Given the description of an element on the screen output the (x, y) to click on. 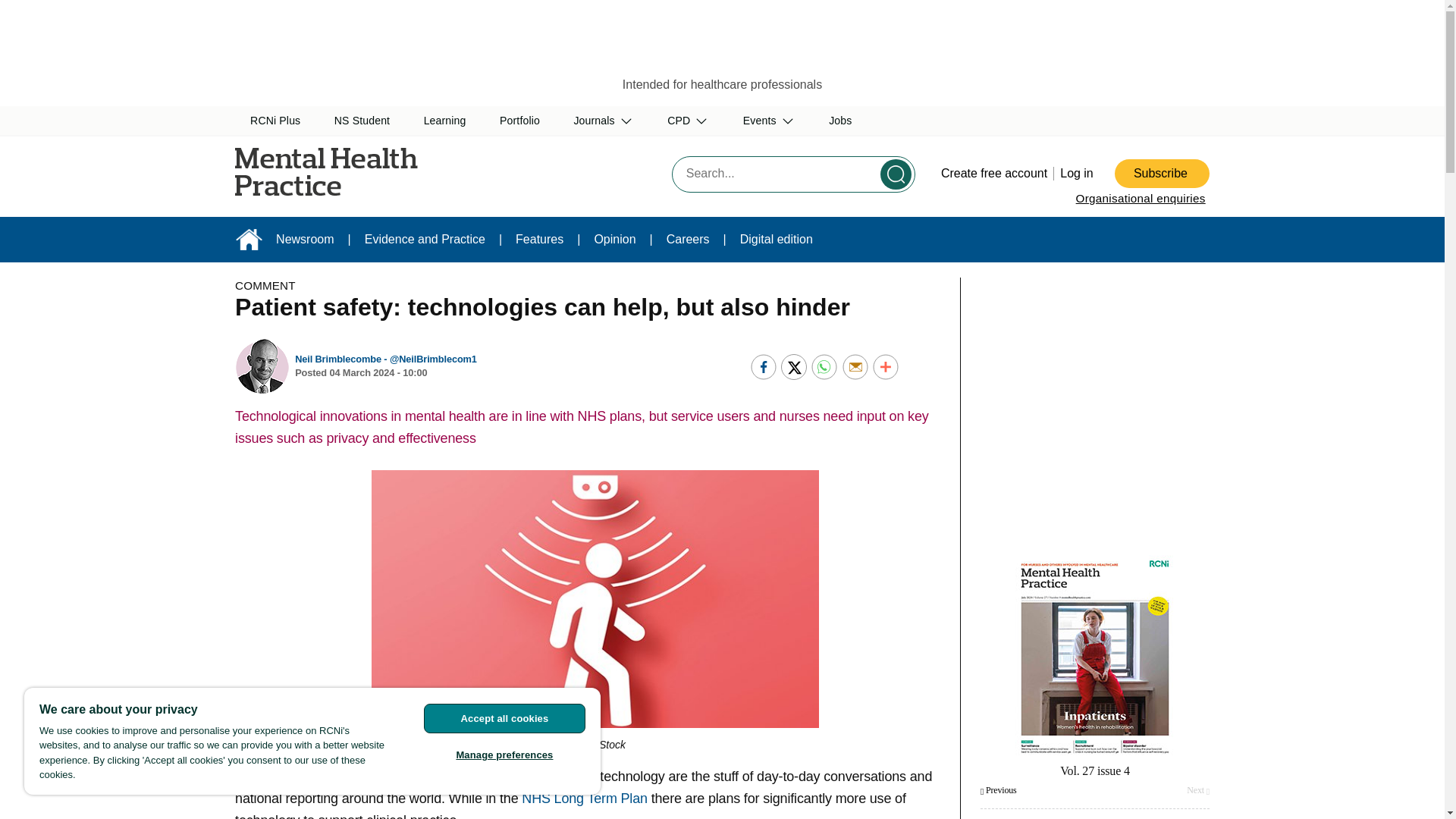
CPD (687, 120)
RCNi Plus (274, 120)
NS Student (362, 120)
Events (768, 120)
Go (895, 173)
Author image (261, 366)
Portfolio (519, 120)
Mental Health Practice (355, 170)
Journals (603, 120)
